Given the description of an element on the screen output the (x, y) to click on. 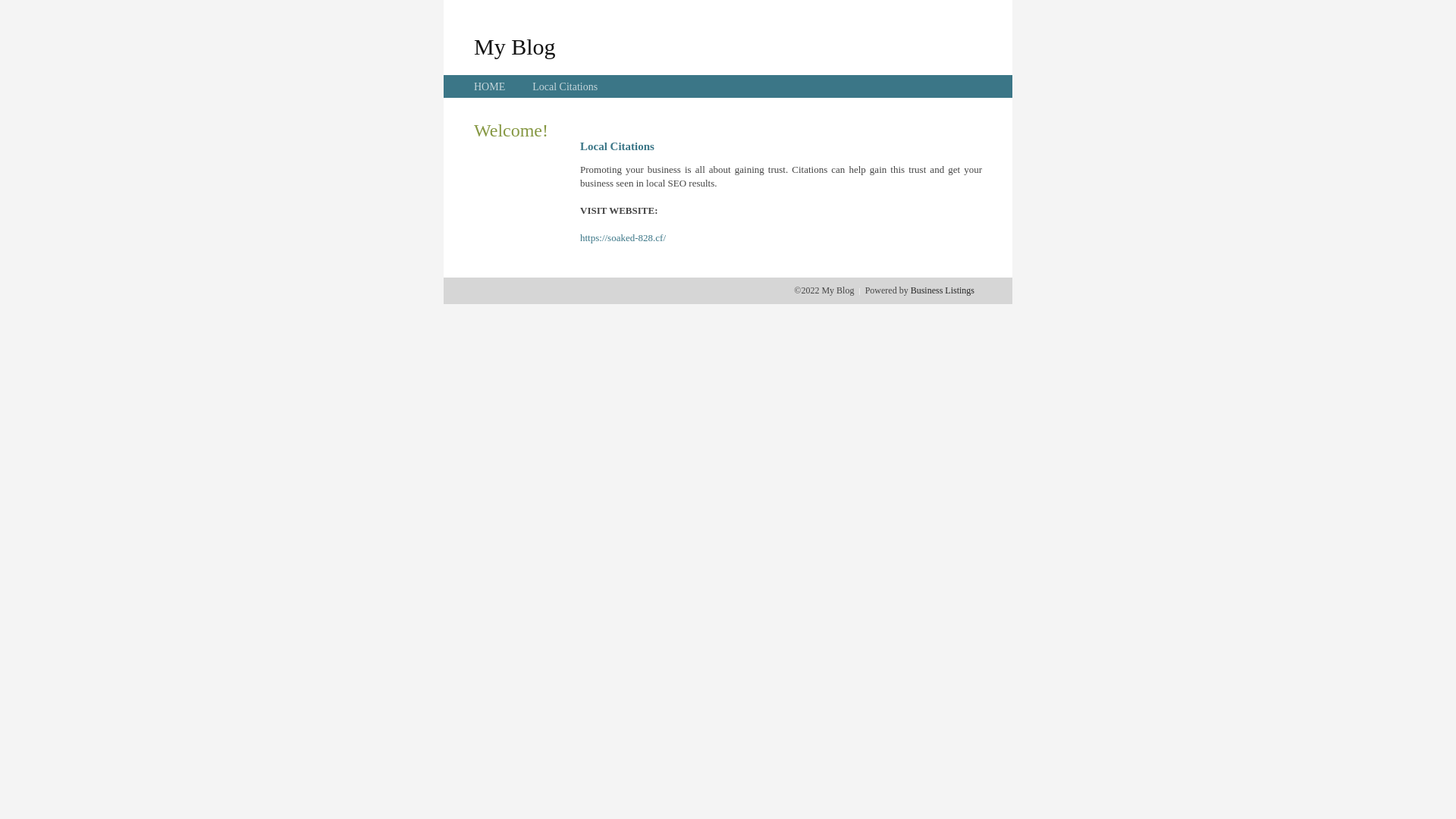
Business Listings Element type: text (942, 290)
Local Citations Element type: text (564, 86)
My Blog Element type: text (514, 46)
HOME Element type: text (489, 86)
https://soaked-828.cf/ Element type: text (622, 237)
